Given the description of an element on the screen output the (x, y) to click on. 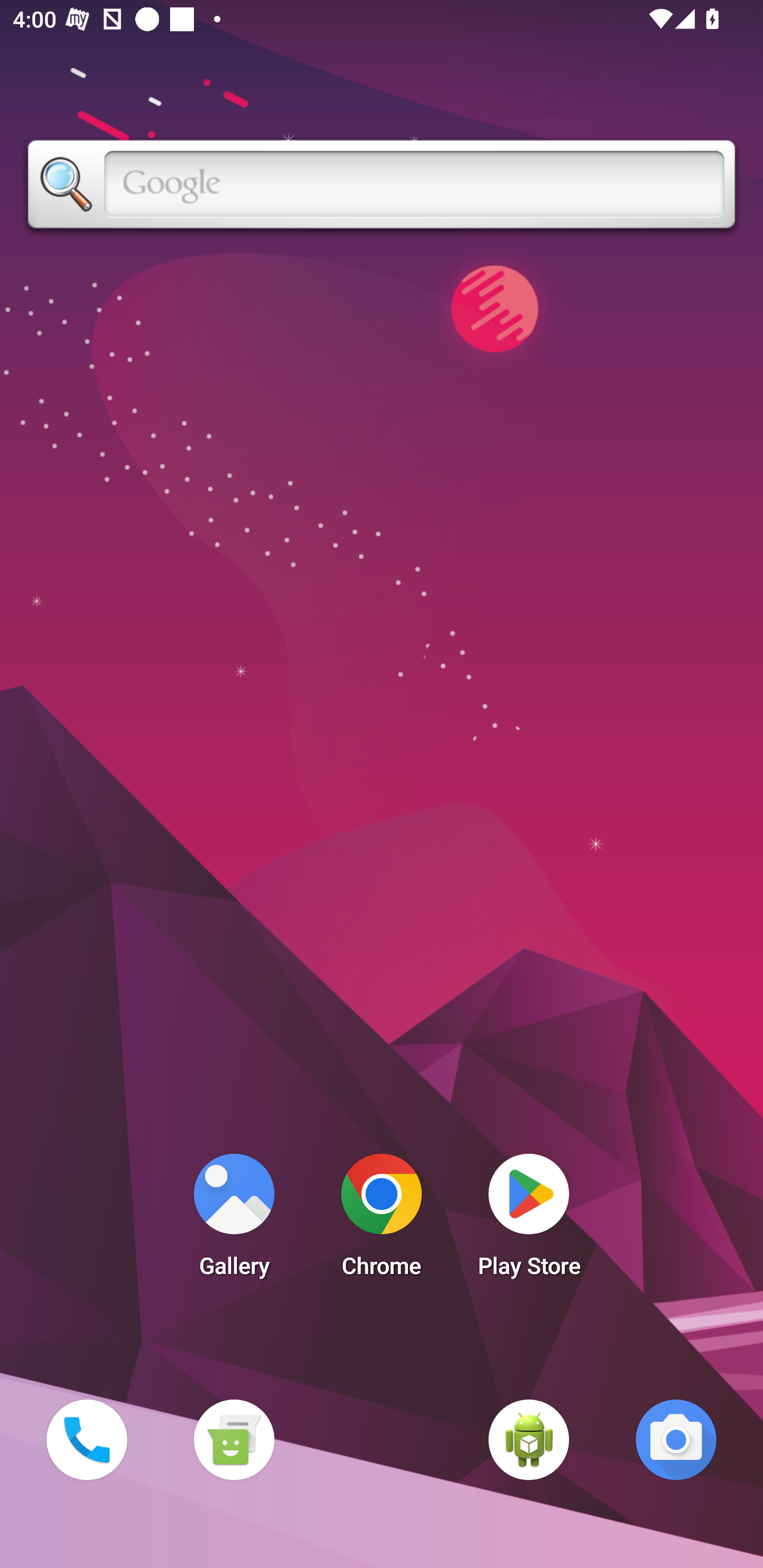
Gallery (233, 1220)
Chrome (381, 1220)
Play Store (528, 1220)
Phone (86, 1439)
Messaging (233, 1439)
WebView Browser Tester (528, 1439)
Camera (676, 1439)
